Given the description of an element on the screen output the (x, y) to click on. 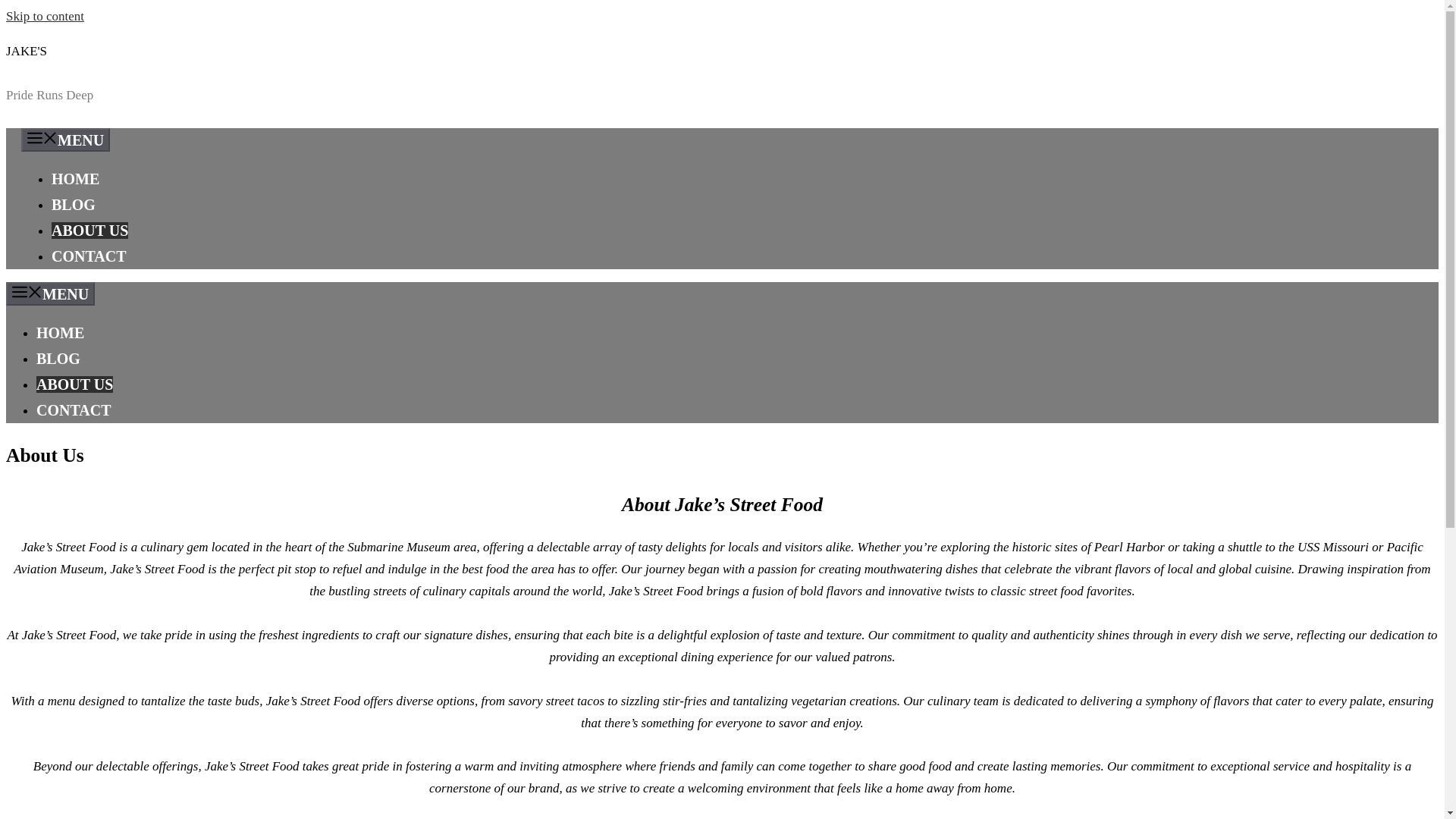
ABOUT US (74, 384)
Skip to content (44, 16)
JAKE'S (25, 51)
ABOUT US (89, 230)
MENU (49, 293)
BLOG (58, 358)
HOME (60, 332)
HOME (74, 178)
BLOG (73, 204)
MENU (65, 139)
